Given the description of an element on the screen output the (x, y) to click on. 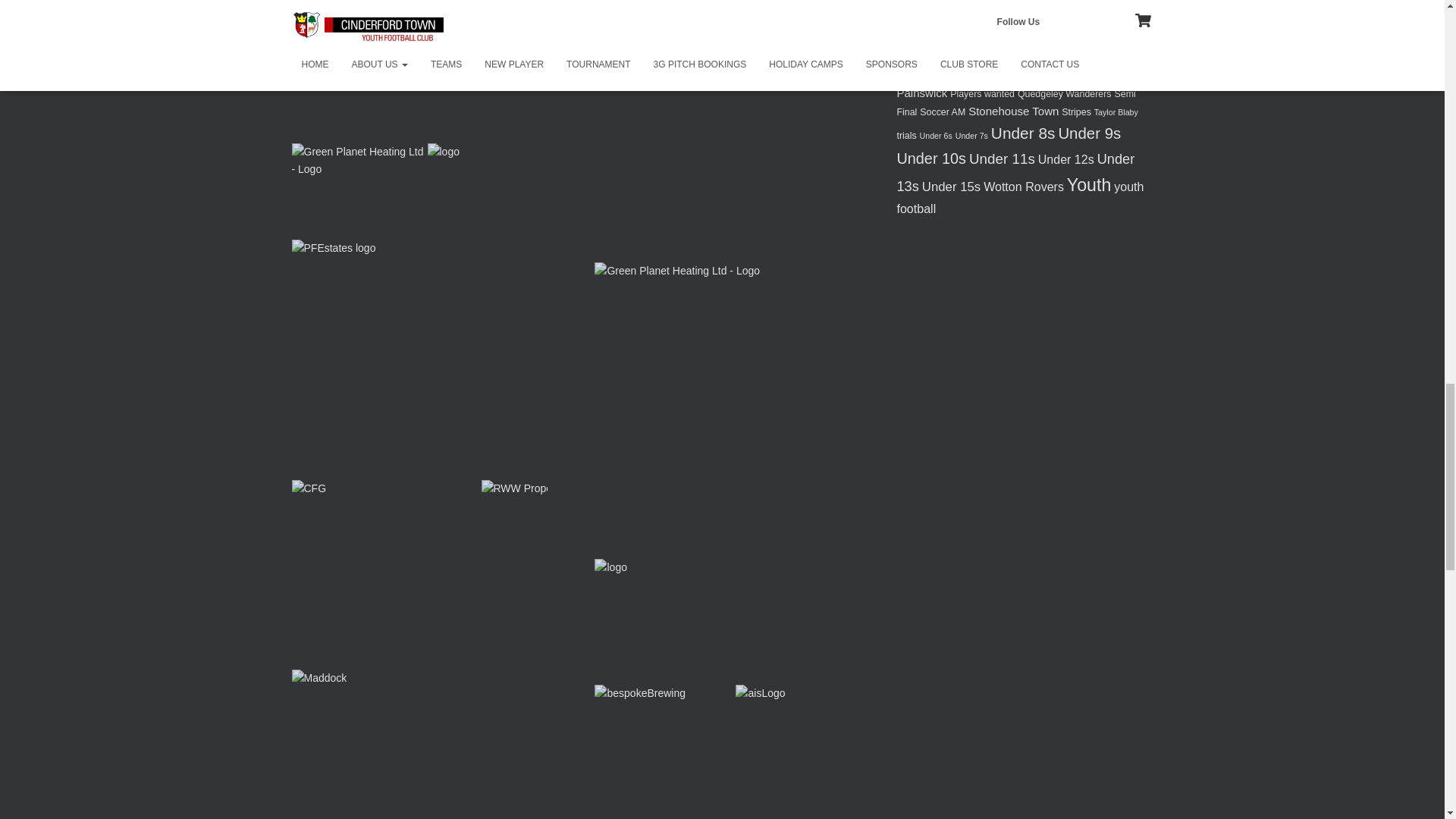
Green Planet Heating Ltd - Logo (357, 160)
CFG (308, 488)
PFEstates logo (333, 248)
logo (444, 151)
